Given the description of an element on the screen output the (x, y) to click on. 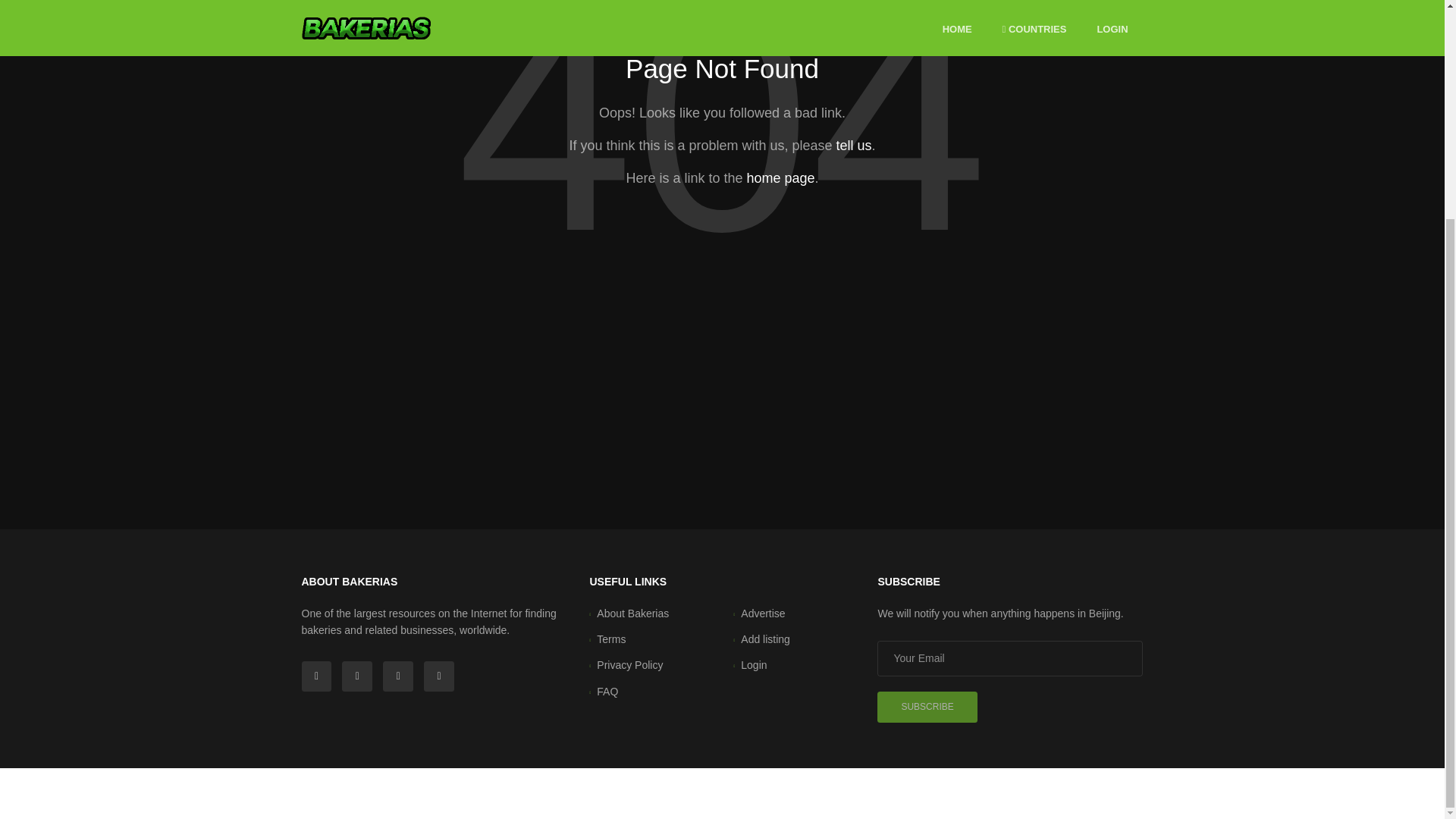
About Bakerias (632, 613)
Advertise (762, 613)
home page (779, 177)
Login (754, 664)
SUBSCRIBE (926, 706)
Terms (611, 638)
FAQ (606, 691)
tell us (852, 145)
Add listing (765, 638)
Privacy Policy (629, 664)
